Given the description of an element on the screen output the (x, y) to click on. 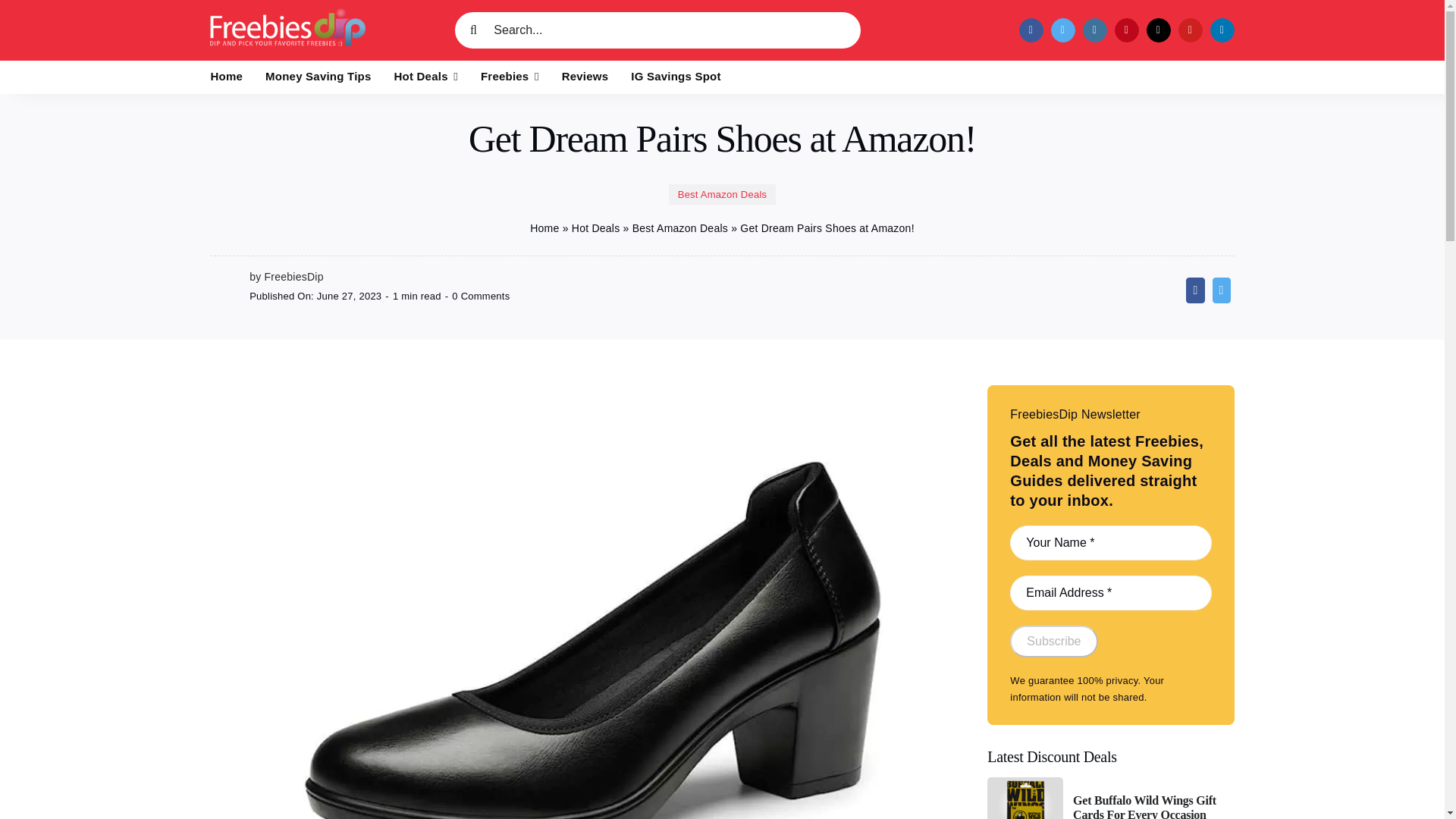
Hot Deals (426, 77)
Money Saving Tips (317, 77)
Freebies (509, 77)
Facebook (1031, 30)
Tiktok (1158, 30)
YouTube (1189, 30)
Instagram (1094, 30)
Home (227, 77)
Twitter (1063, 30)
Pinterest (1126, 30)
LinkedIn (1221, 30)
